Given the description of an element on the screen output the (x, y) to click on. 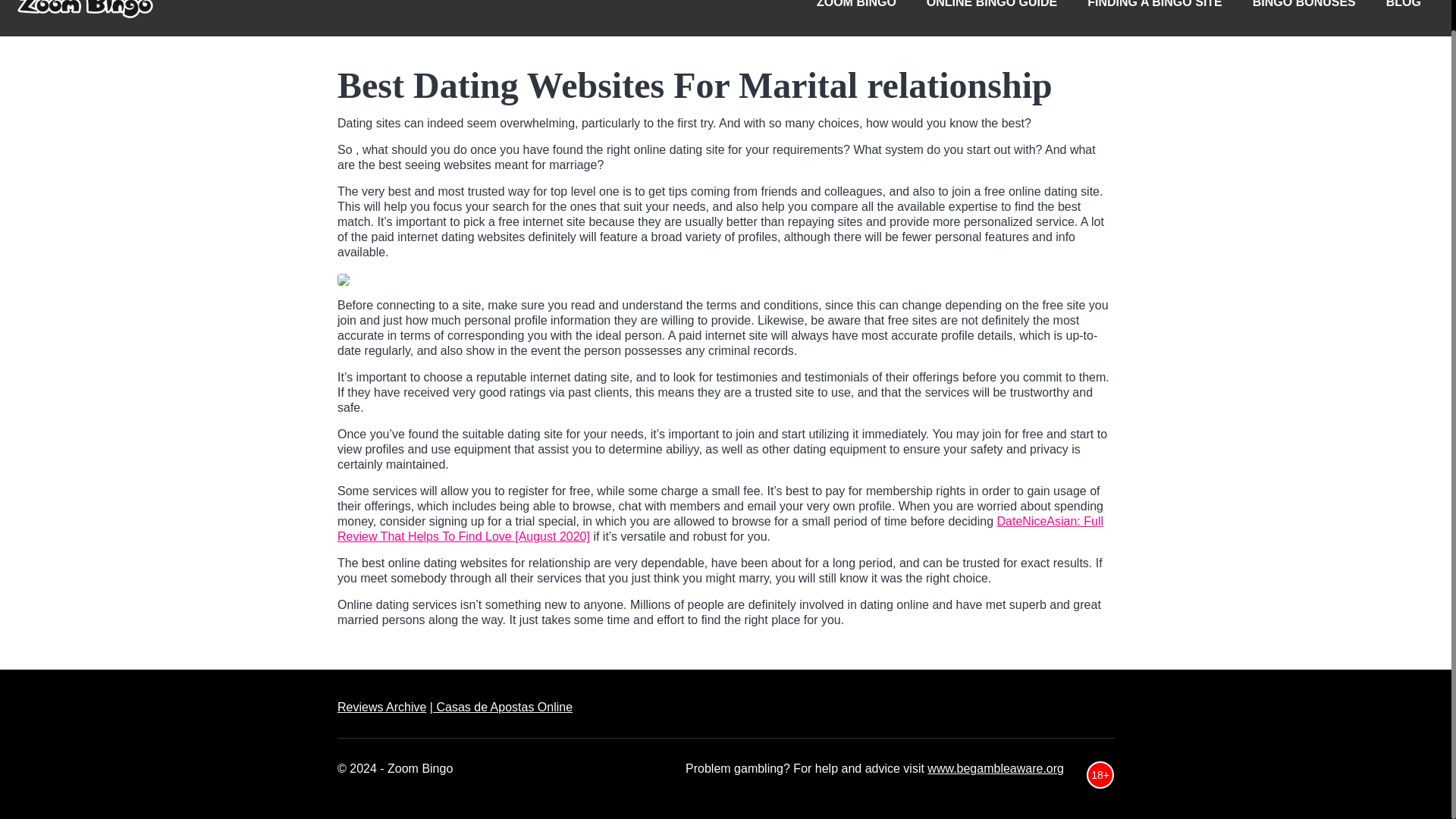
BLOG (1403, 18)
BINGO BONUSES (1304, 18)
FINDING A BINGO SITE (1153, 18)
ZOOM BINGO (856, 18)
ONLINE BINGO GUIDE (991, 18)
Reviews Archive (381, 707)
www.begambleaware.org (995, 768)
